Given the description of an element on the screen output the (x, y) to click on. 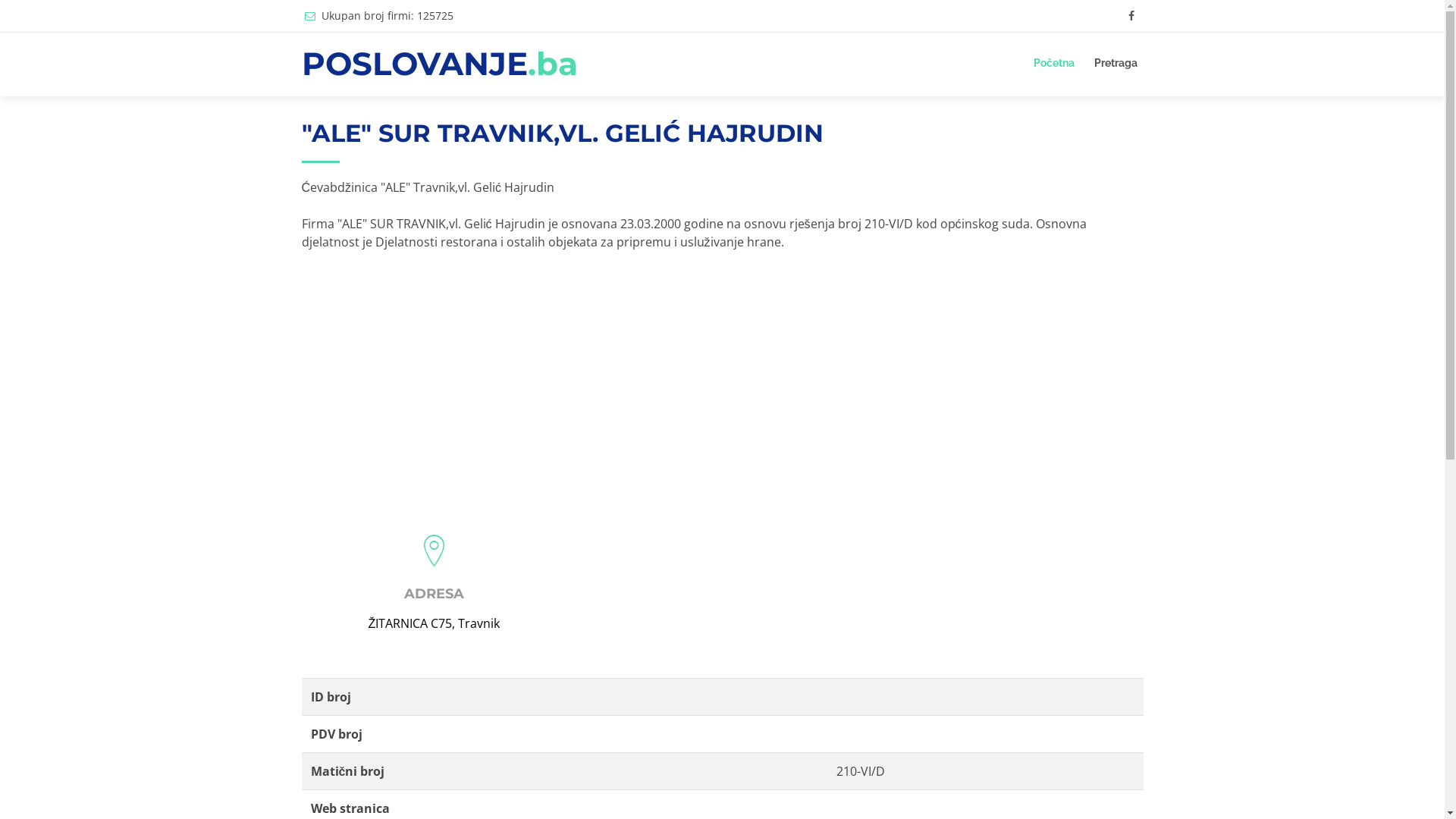
POSLOVANJE.ba Element type: text (439, 63)
Advertisement Element type: hover (722, 379)
Pretraga Element type: text (1114, 62)
